Given the description of an element on the screen output the (x, y) to click on. 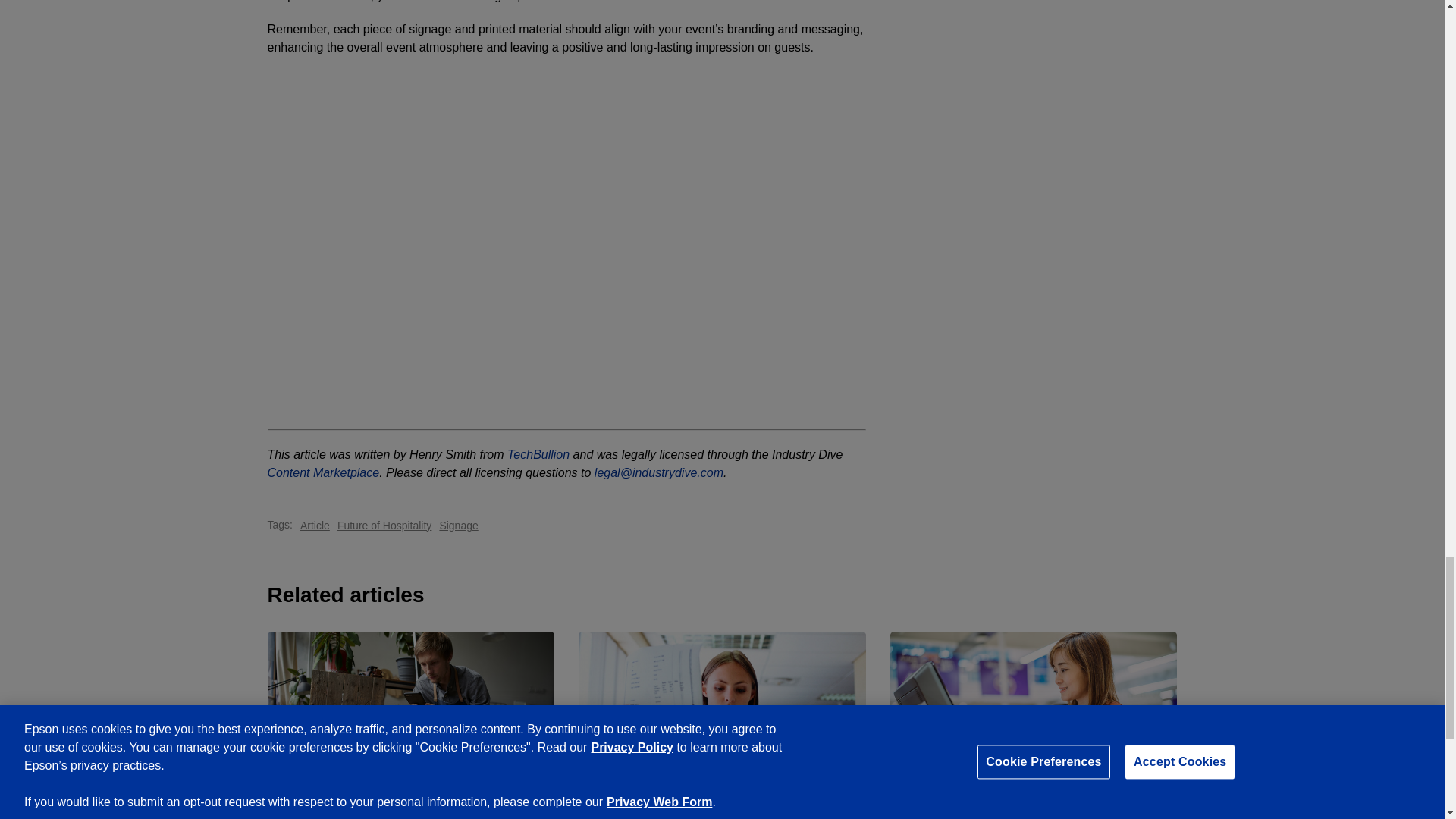
SMALL BUSINESS (313, 811)
Future of Hospitality (384, 525)
Article (314, 525)
TechBullion (537, 454)
Content Marketplace (322, 472)
SMALL BUSINESS (936, 811)
SMALL BUSINESS (625, 811)
Signage (458, 525)
